Given the description of an element on the screen output the (x, y) to click on. 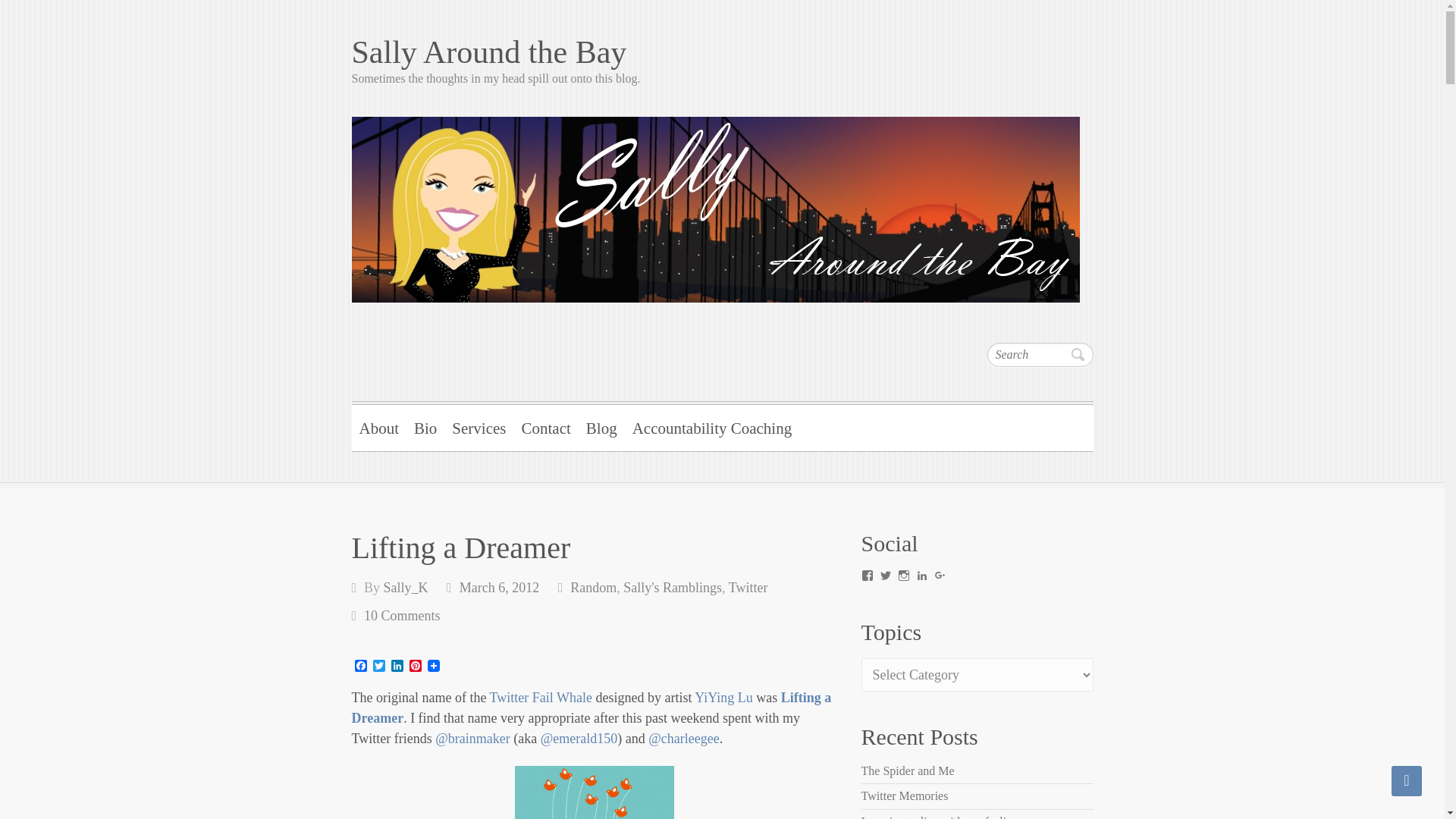
12:13 pm (499, 587)
Fail Whale (594, 792)
Sally Around the Bay (722, 52)
Twitter Fail Whale (540, 697)
Facebook (360, 667)
Services (478, 426)
Accountability Coaching (711, 426)
Pinterest (415, 667)
Contact (545, 426)
